Given the description of an element on the screen output the (x, y) to click on. 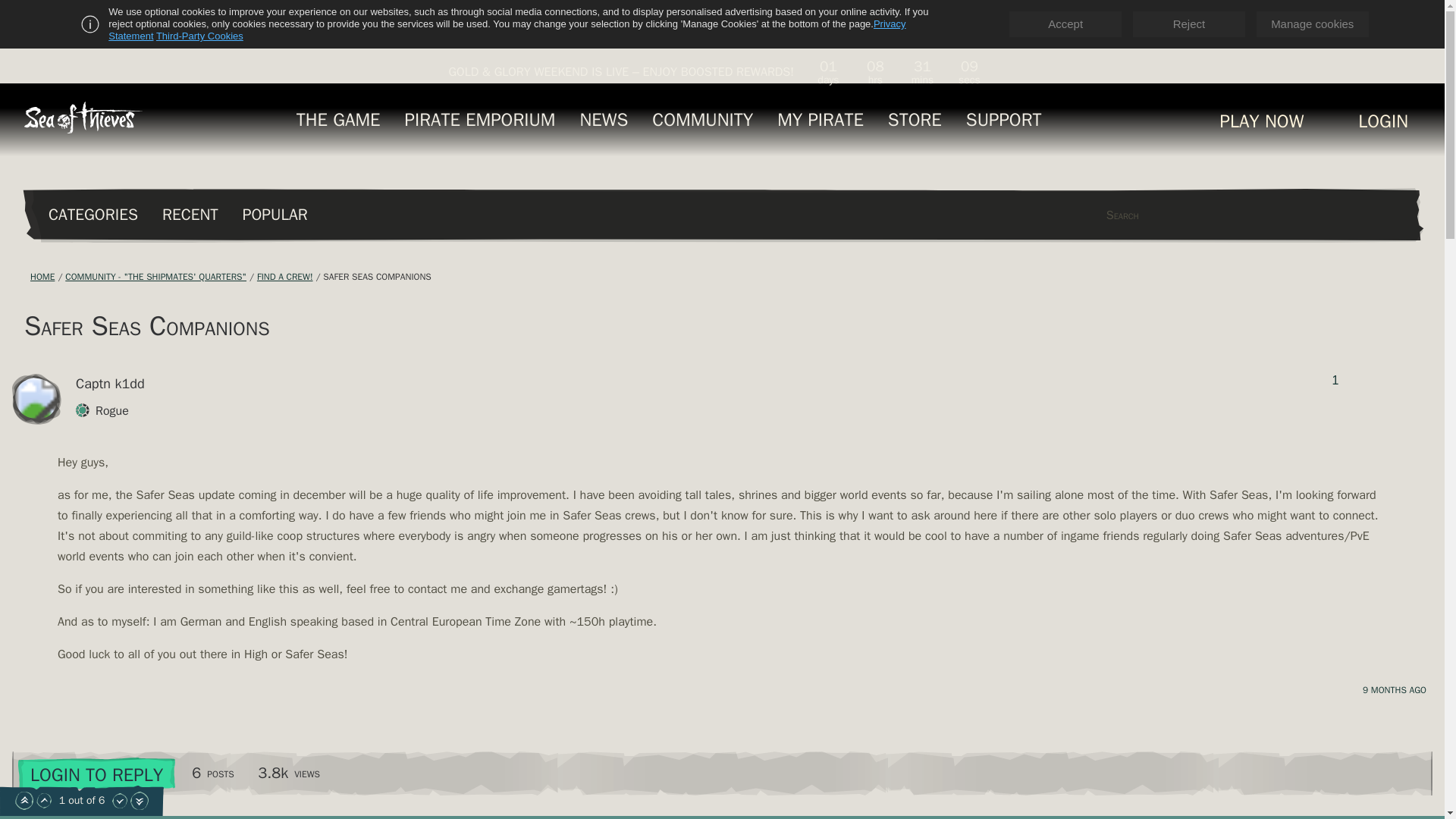
Offline (53, 383)
Reject (1189, 23)
Categories (93, 214)
Home (42, 276)
Accept (1065, 23)
Popular (275, 214)
NEWS (603, 119)
THE GAME (338, 119)
Find a Crew! (285, 276)
Safer Seas Companions (376, 276)
